Given the description of an element on the screen output the (x, y) to click on. 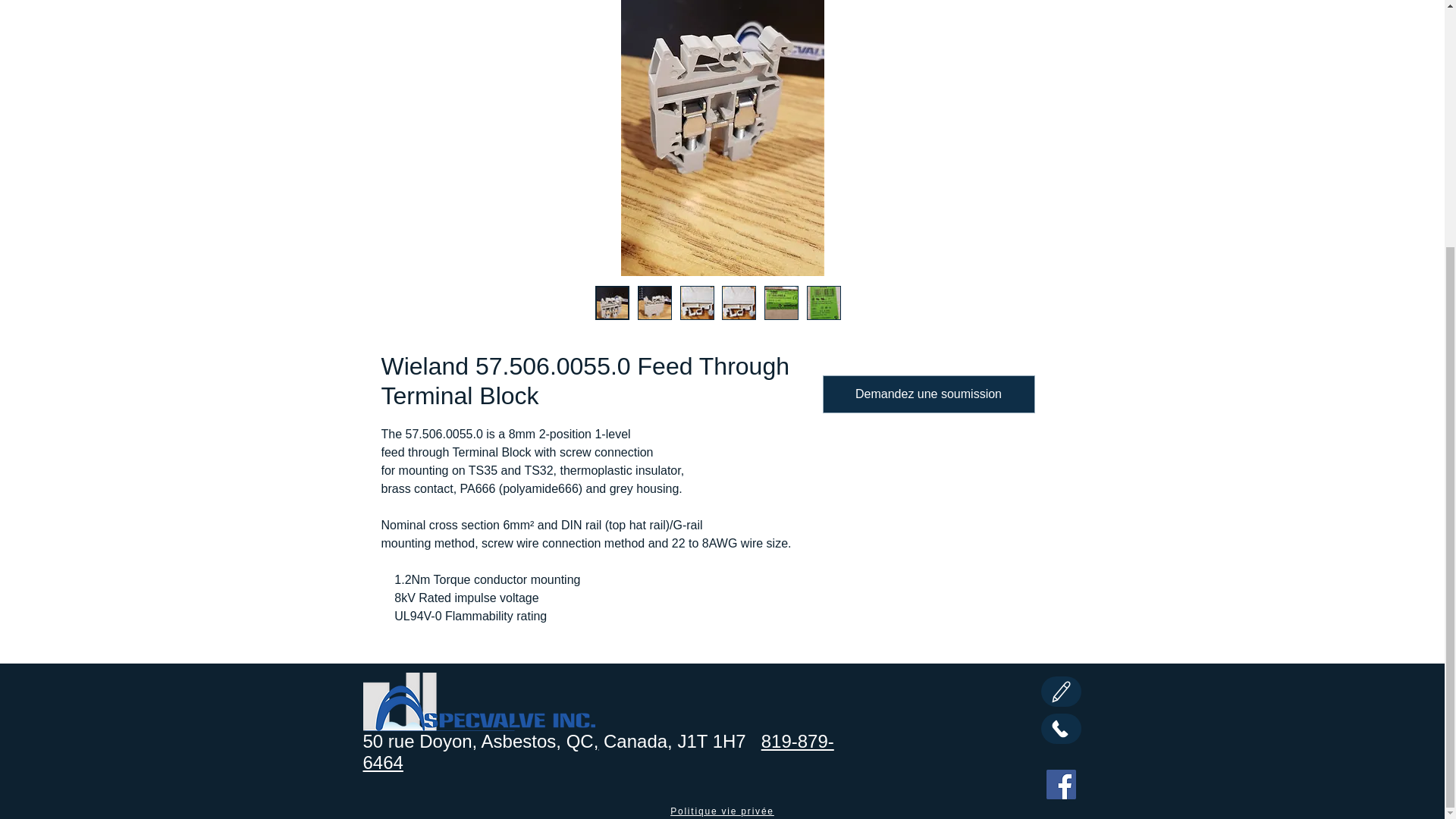
50 rue Doyon, Asbestos (459, 741)
QC (577, 741)
Specvalve inc. (478, 701)
819-879-6464 (597, 752)
 Canada, J1T 1H7   (676, 741)
Demandez une soumission (927, 394)
